Given the description of an element on the screen output the (x, y) to click on. 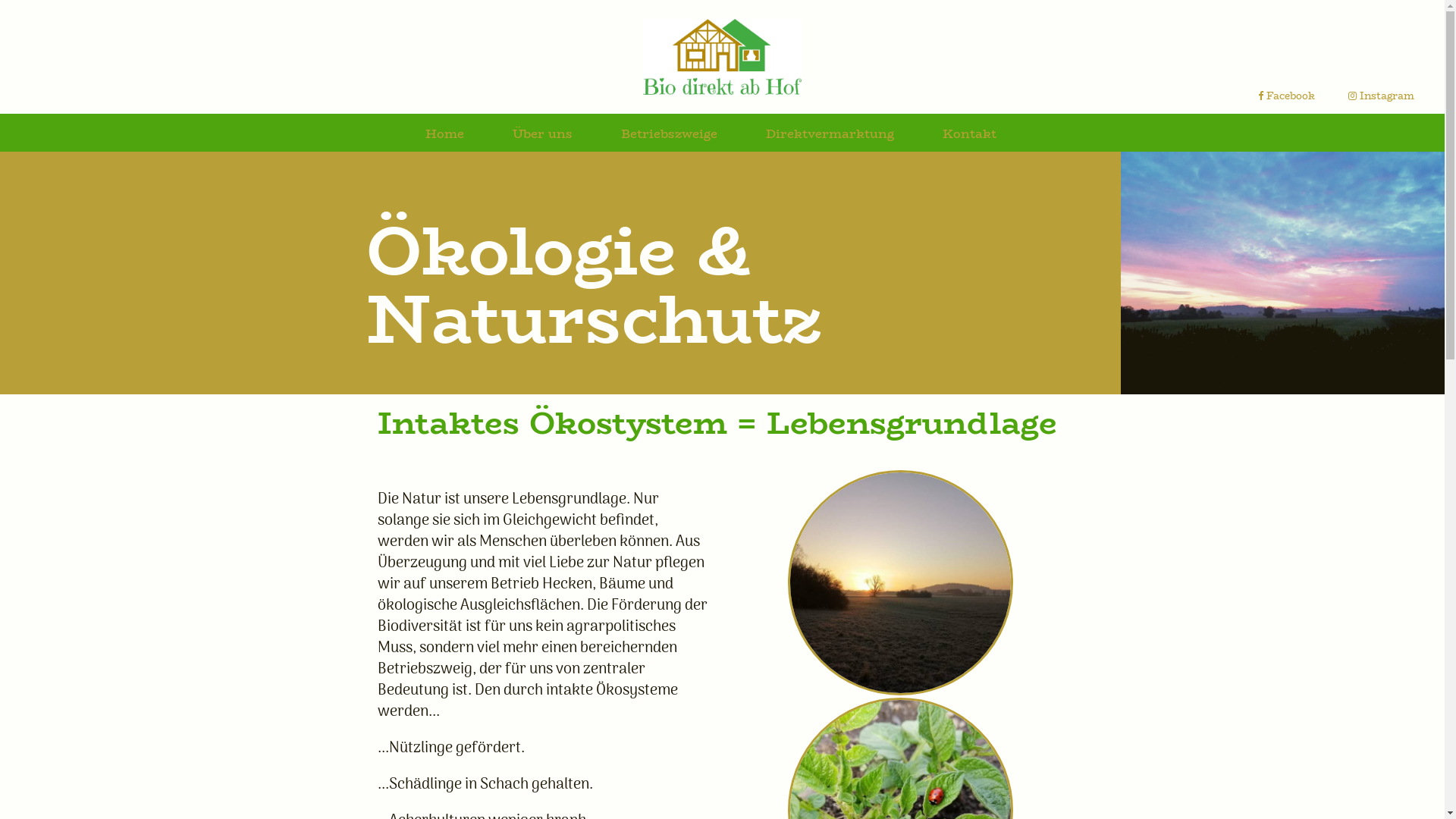
Instagram Element type: text (1380, 95)
Facebook Element type: text (1286, 95)
Home Element type: text (444, 136)
Direktvermarktung Element type: text (829, 136)
Betriebszweige Element type: text (669, 136)
Kontakt Element type: text (969, 136)
